Given the description of an element on the screen output the (x, y) to click on. 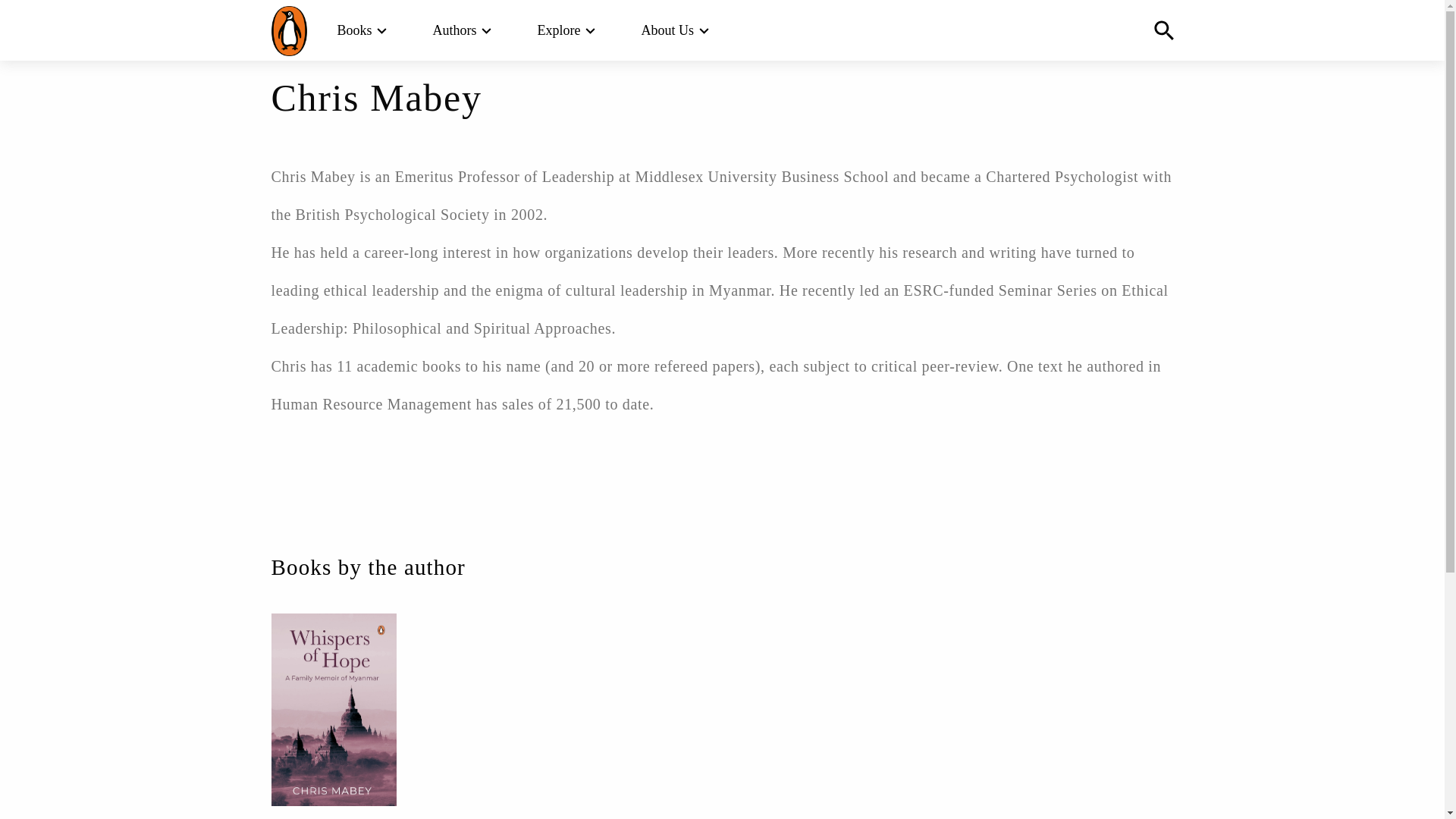
Authors (454, 30)
Explore (558, 30)
Books (353, 30)
